Given the description of an element on the screen output the (x, y) to click on. 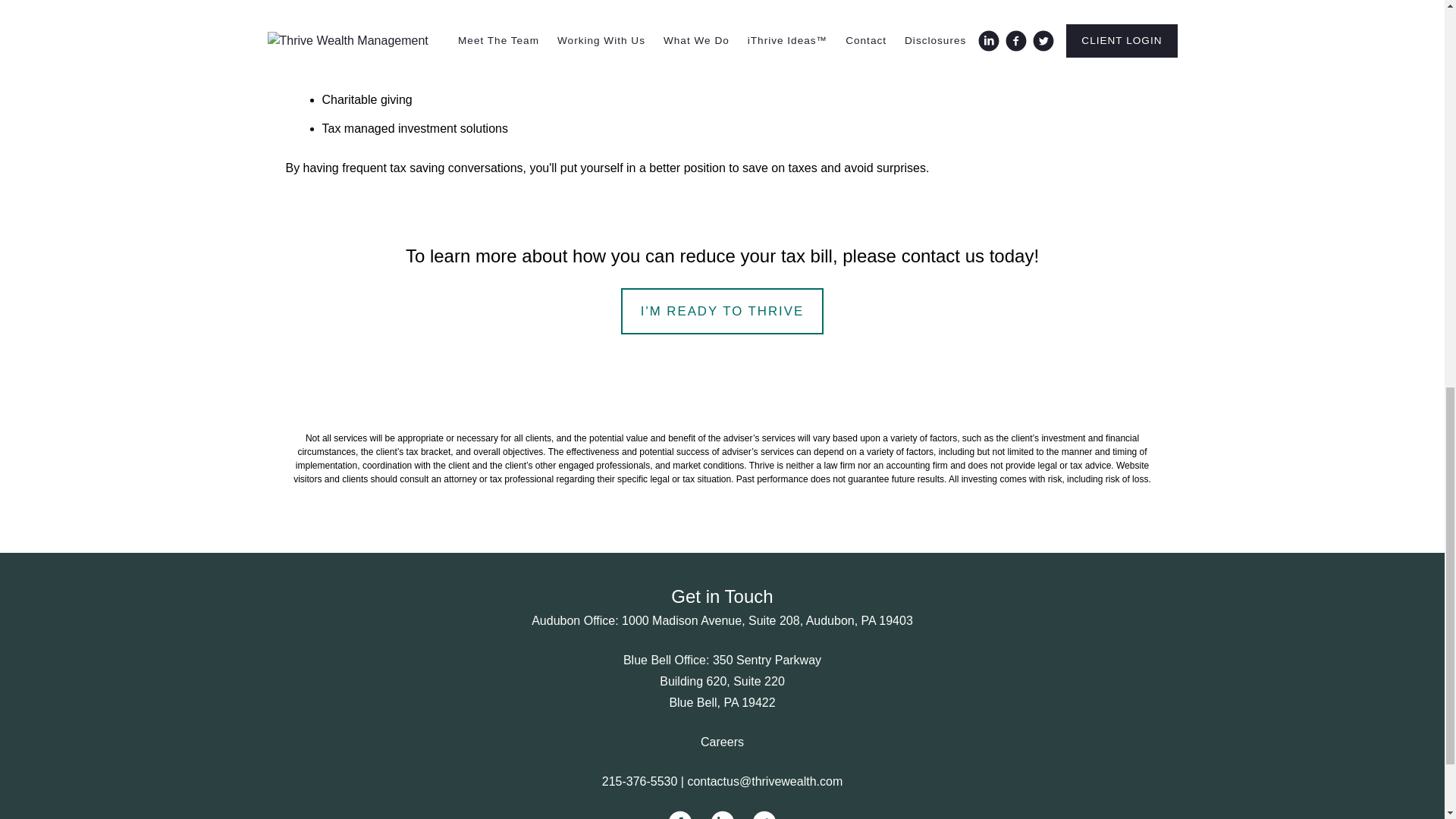
I'M READY TO THRIVE (722, 311)
Careers (722, 741)
Audubon Office (572, 620)
Blue Bell Office (664, 659)
